Given the description of an element on the screen output the (x, y) to click on. 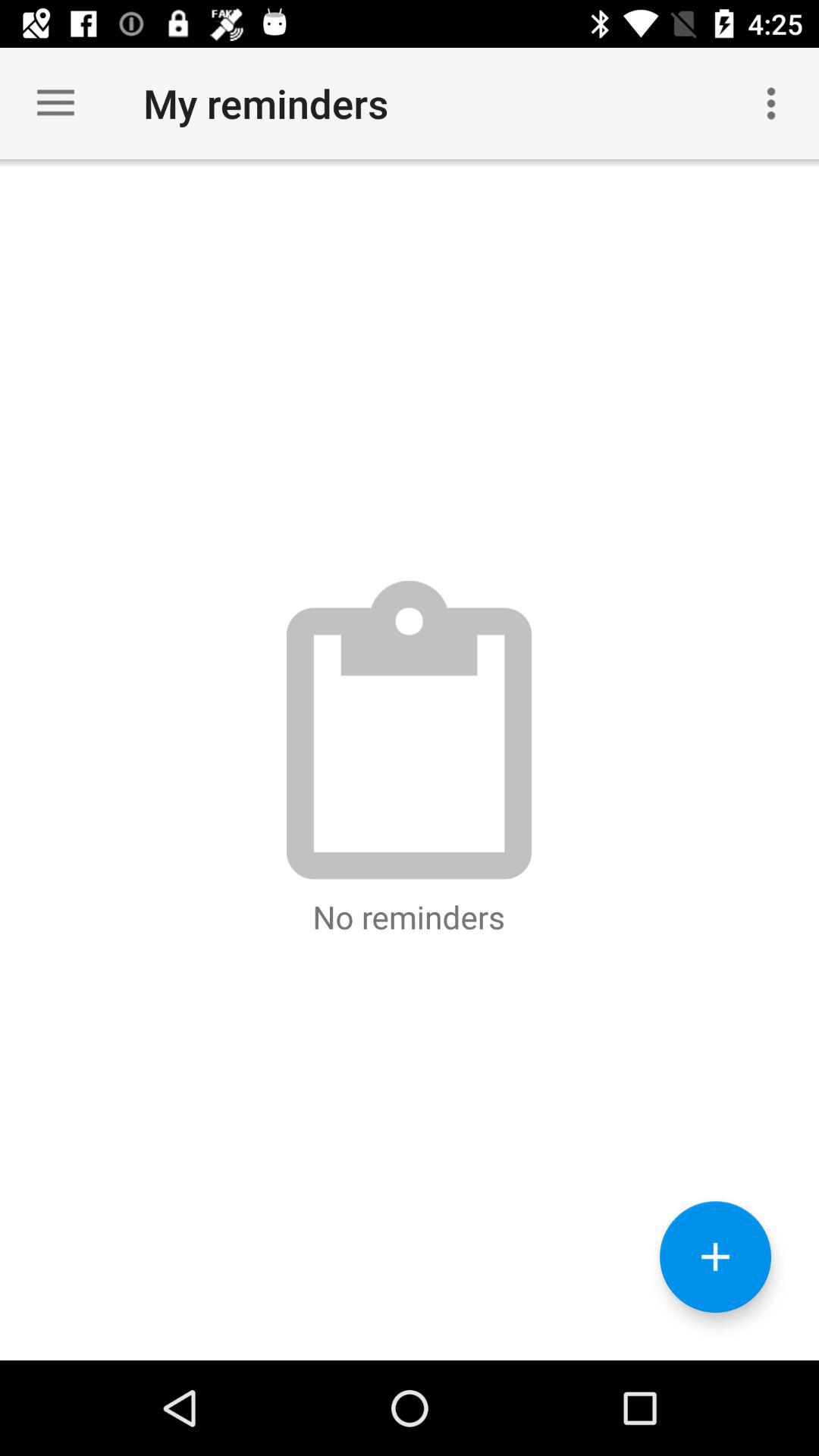
select item to the right of my reminders icon (771, 103)
